Given the description of an element on the screen output the (x, y) to click on. 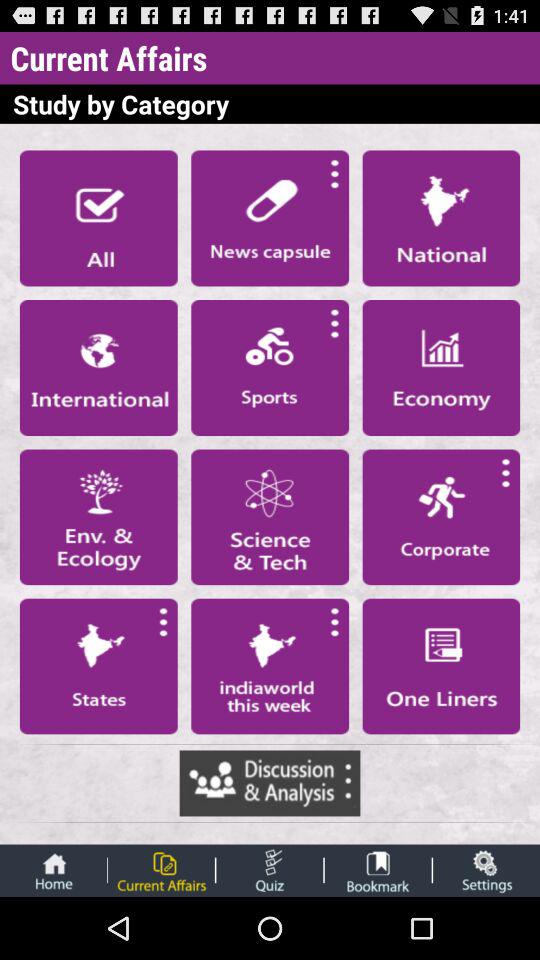
opens the national category (441, 218)
